Given the description of an element on the screen output the (x, y) to click on. 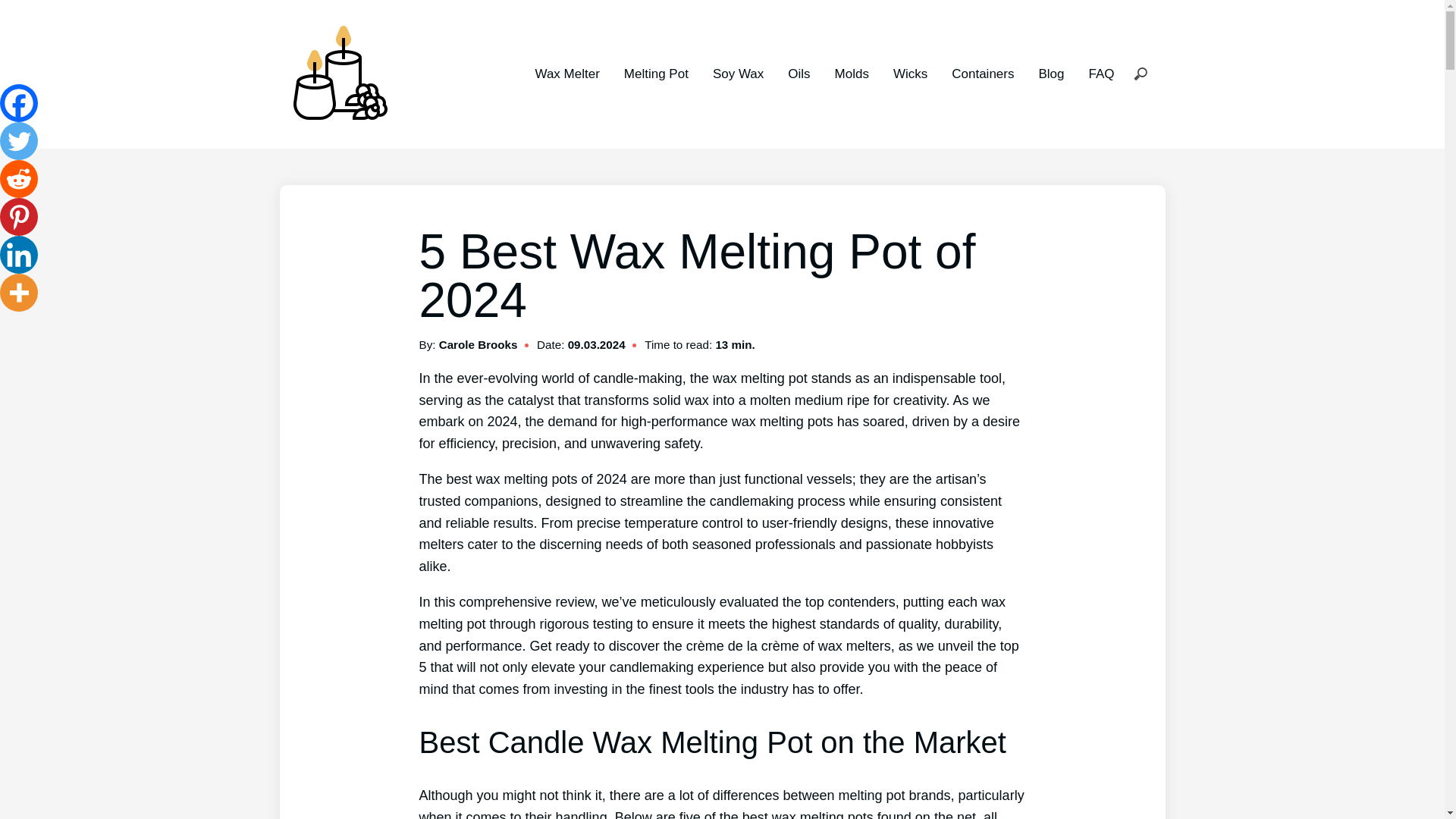
Facebook (18, 103)
Melting Pot (656, 73)
Pinterest (18, 216)
Reddit (18, 178)
Twitter (18, 140)
Molds (851, 73)
FAQ (1100, 73)
More (18, 292)
Oils (798, 73)
Blog (1051, 73)
